Given the description of an element on the screen output the (x, y) to click on. 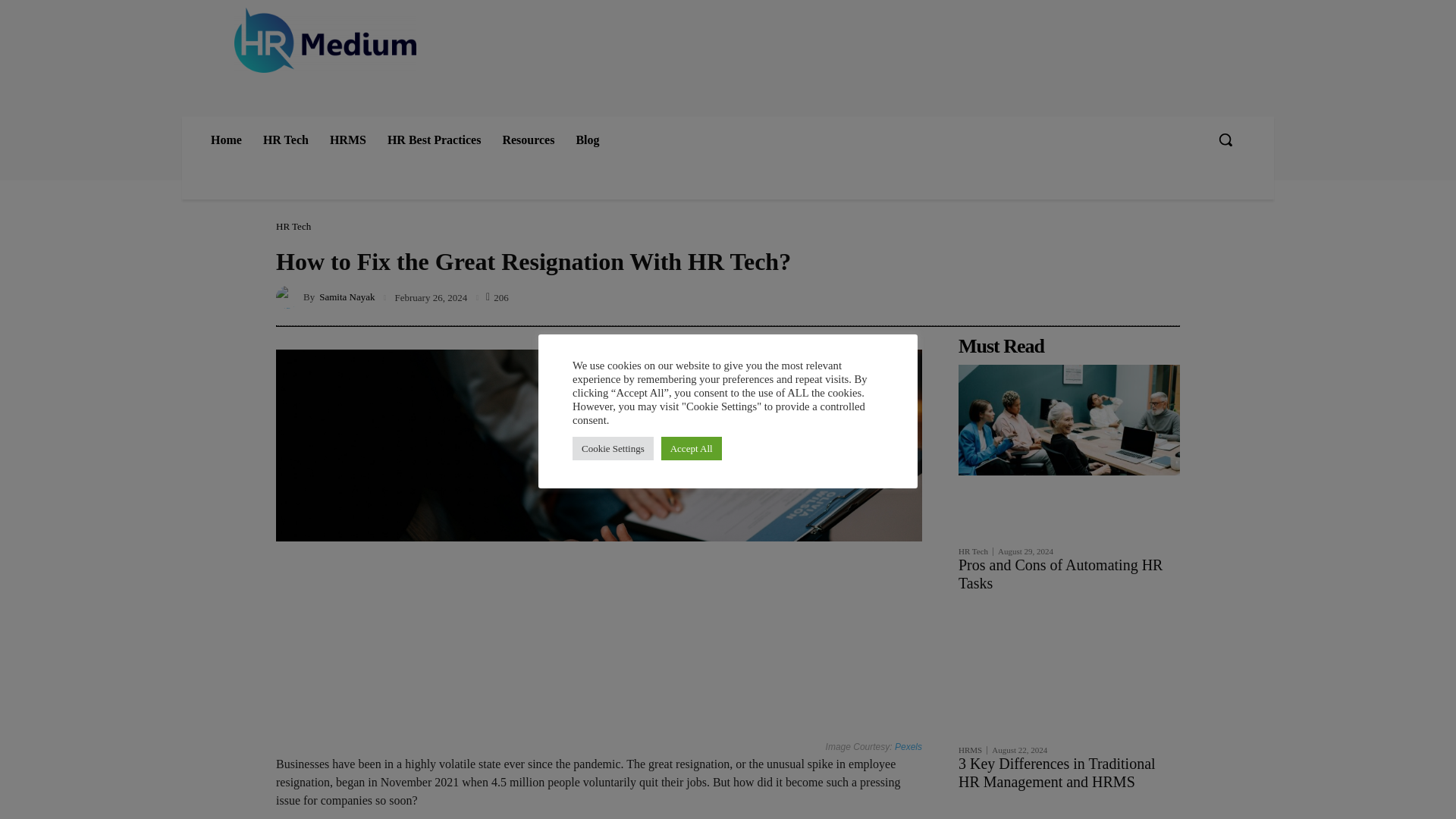
Samita Nayak (289, 296)
HR Tech (284, 139)
HRMS (347, 139)
Pexels (908, 747)
Pros and Cons of Automating HR Tasks (1068, 419)
Samita Nayak (346, 296)
Home (225, 139)
HR Best Practices (434, 139)
HR Tech (293, 225)
Blog (587, 139)
